Given the description of an element on the screen output the (x, y) to click on. 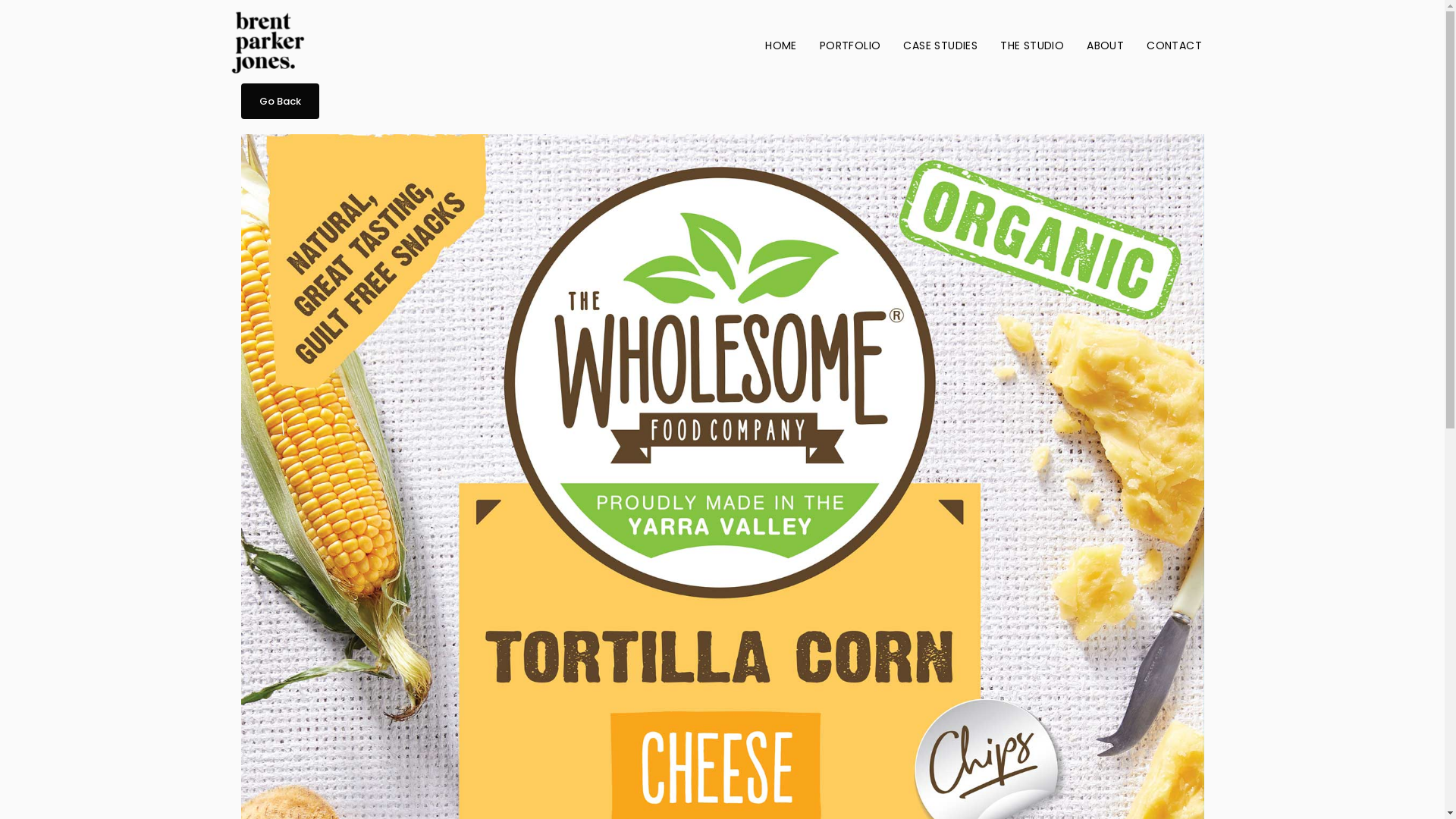
PORTFOLIO Element type: text (850, 45)
HOME Element type: text (781, 45)
Go Back Element type: text (280, 101)
THE STUDIO Element type: text (1031, 45)
CASE STUDIES Element type: text (940, 45)
ABOUT Element type: text (1104, 45)
CONTACT Element type: text (1173, 45)
